Given the description of an element on the screen output the (x, y) to click on. 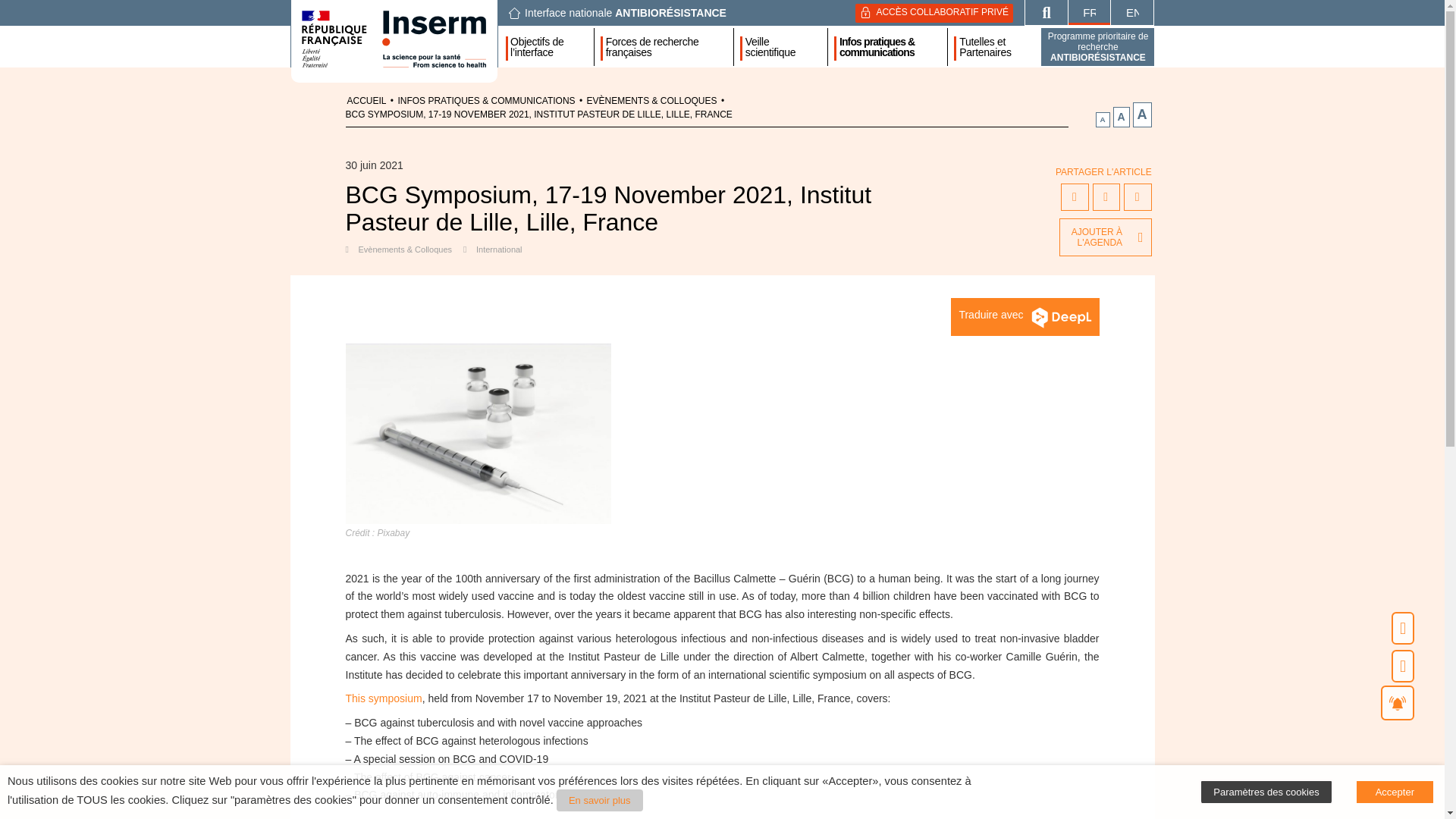
Organizing committees (429, 818)
ENGLISH (1131, 11)
This symposium (384, 698)
Veille scientifique (783, 46)
Tutelles et Partenaires (996, 46)
Decrease font size (1102, 119)
A (1102, 119)
Traduire avec (1024, 316)
ACCUEIL (367, 100)
